Given the description of an element on the screen output the (x, y) to click on. 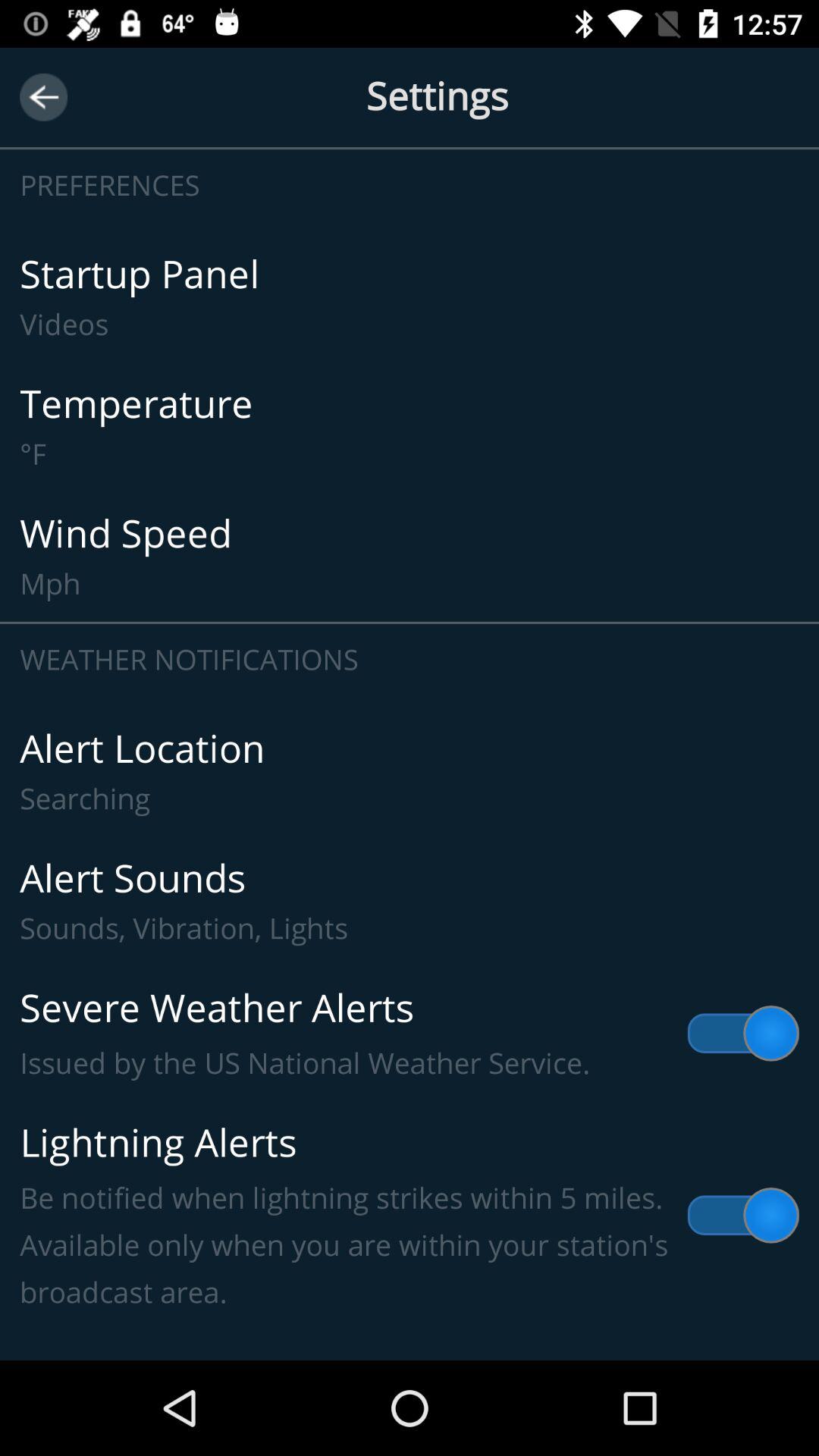
setting (409, 97)
